Given the description of an element on the screen output the (x, y) to click on. 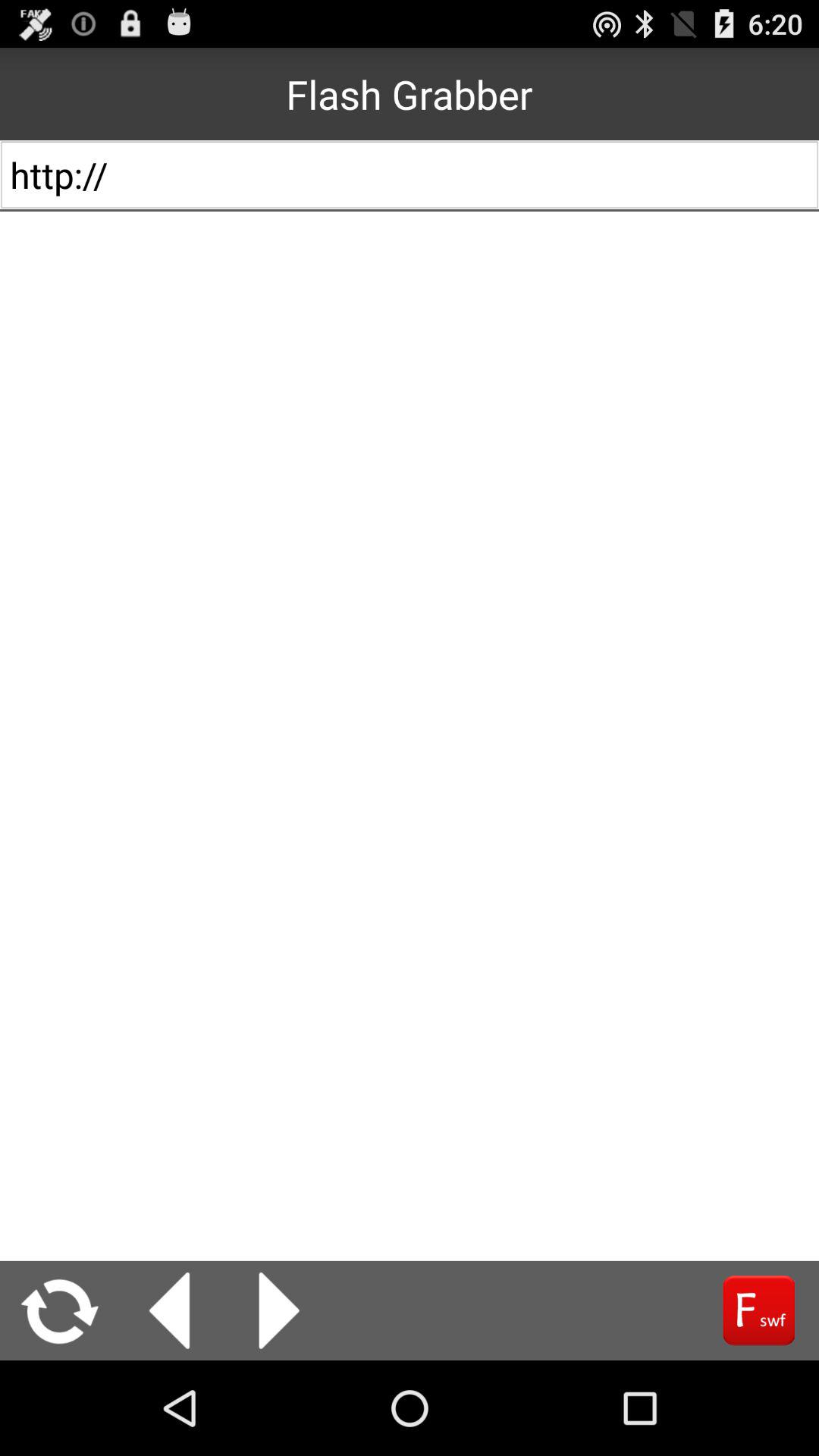
go to next page (279, 1310)
